Given the description of an element on the screen output the (x, y) to click on. 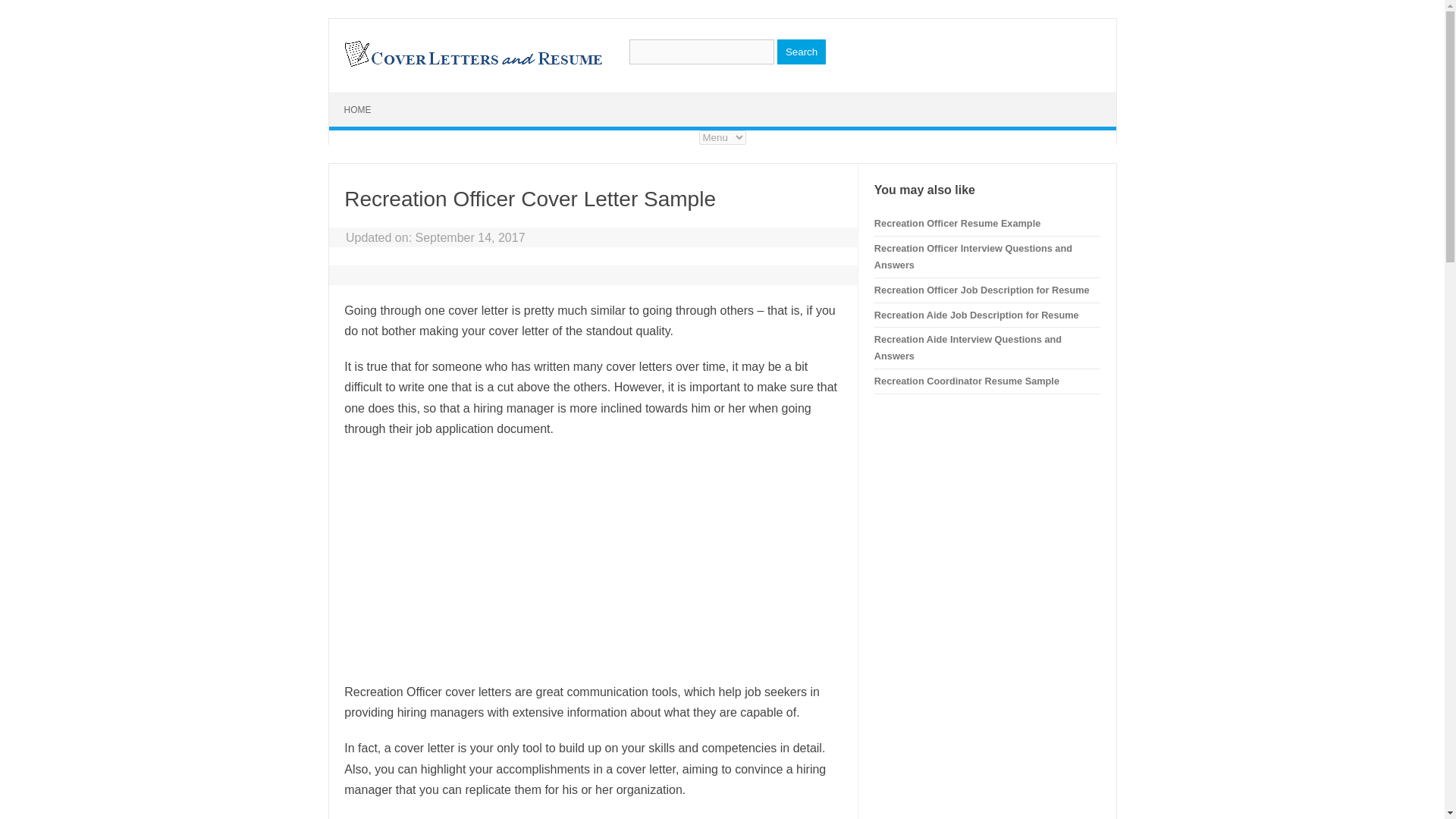
Cover Letters and Resume Samples (471, 65)
Recreation Coordinator Resume Sample (967, 380)
Recreation Aide Interview Questions and Answers (968, 347)
Recreation Officer Job Description for Resume (982, 289)
HOME (358, 109)
Search (801, 51)
Recreation Aide Job Description for Resume (976, 315)
Recreation Officer Resume Example (958, 223)
Recreation Officer Interview Questions and Answers (973, 256)
